Given the description of an element on the screen output the (x, y) to click on. 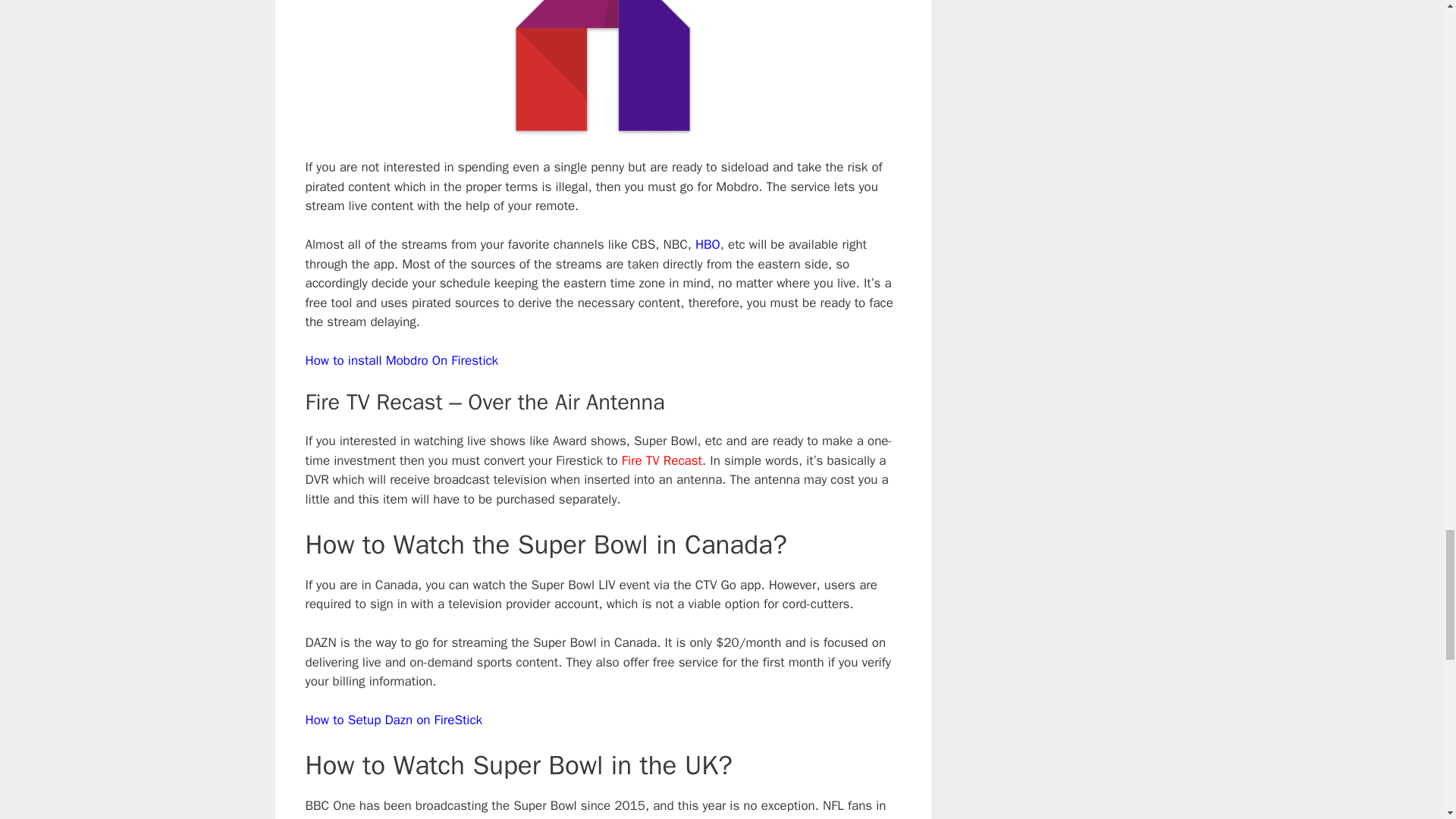
Fire TV Recast (661, 460)
HBO (707, 244)
How to Setup Dazn on FireStick (392, 719)
How to install Mobdro On Firestick (400, 360)
